Given the description of an element on the screen output the (x, y) to click on. 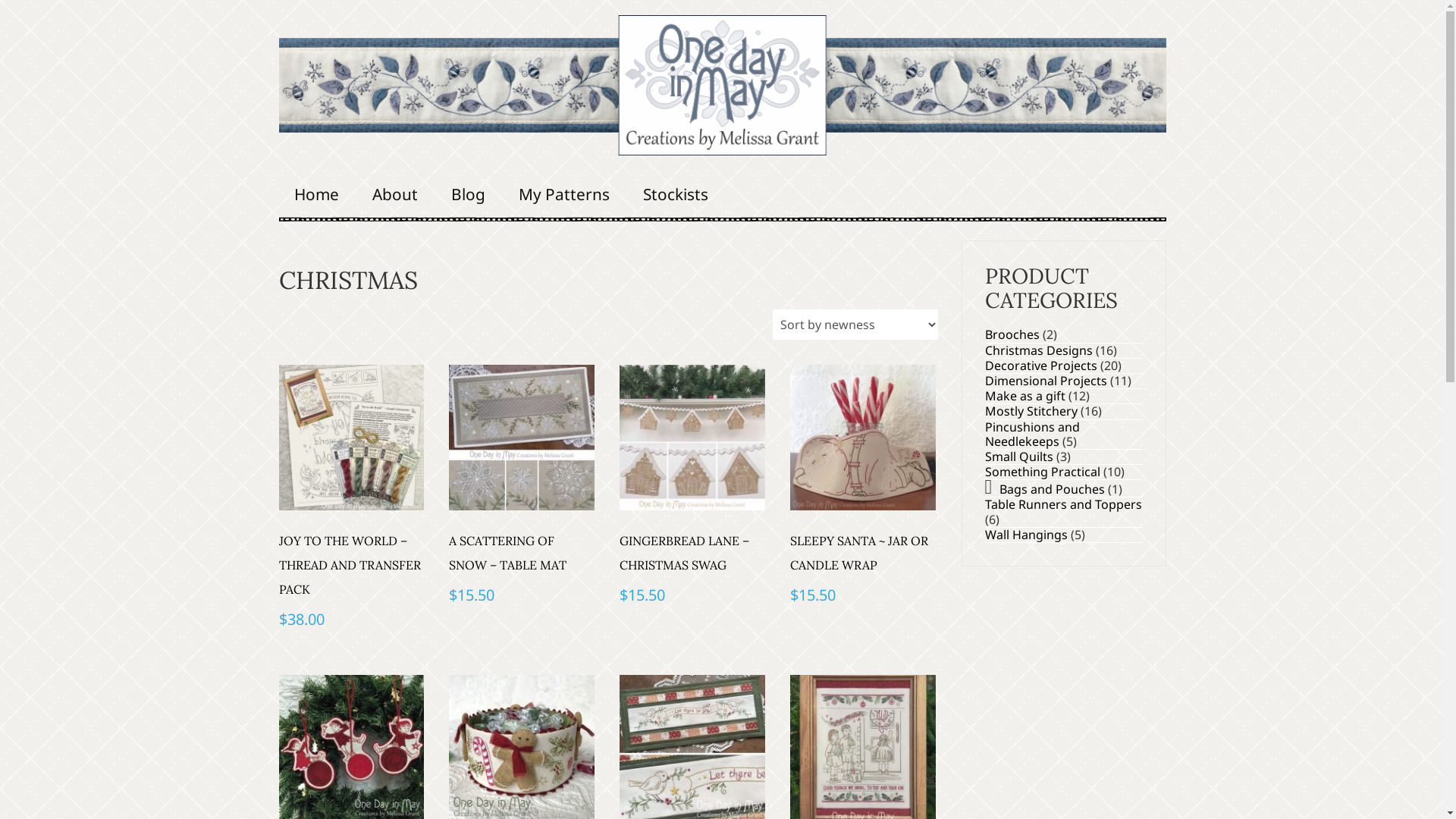
Christmas Designs Element type: text (1038, 350)
Bags and Pouches Element type: text (1051, 488)
Table Runners and Toppers Element type: text (1062, 503)
Stockists Element type: text (675, 193)
About Element type: text (394, 193)
Joy to the World - Thread and Transfer Pack Element type: hover (351, 437)
Something Practical Element type: text (1041, 471)
Brooches Element type: text (1011, 334)
Creations By Melissa Grant Element type: hover (722, 85)
SLEEPY SANTA ~ JAR OR CANDLE WRAP
$15.50 Element type: text (862, 486)
Gingerbread Lane ~ Christmas swag Element type: hover (692, 437)
Blog Element type: text (467, 193)
Sleepy Santa - Jar or Candle Wrap Element type: hover (862, 437)
Wall Hangings Element type: text (1025, 534)
Dimensional Projects Element type: text (1045, 380)
Make as a gift Element type: text (1024, 395)
My Patterns Element type: text (563, 193)
Mostly Stitchery Element type: text (1030, 410)
Pincushions and Needlekeeps Element type: text (1031, 433)
A Scattering of Snow - festive mat Element type: hover (521, 437)
Home Element type: text (316, 193)
Decorative Projects Element type: text (1040, 365)
Small Quilts Element type: text (1018, 456)
